Given the description of an element on the screen output the (x, y) to click on. 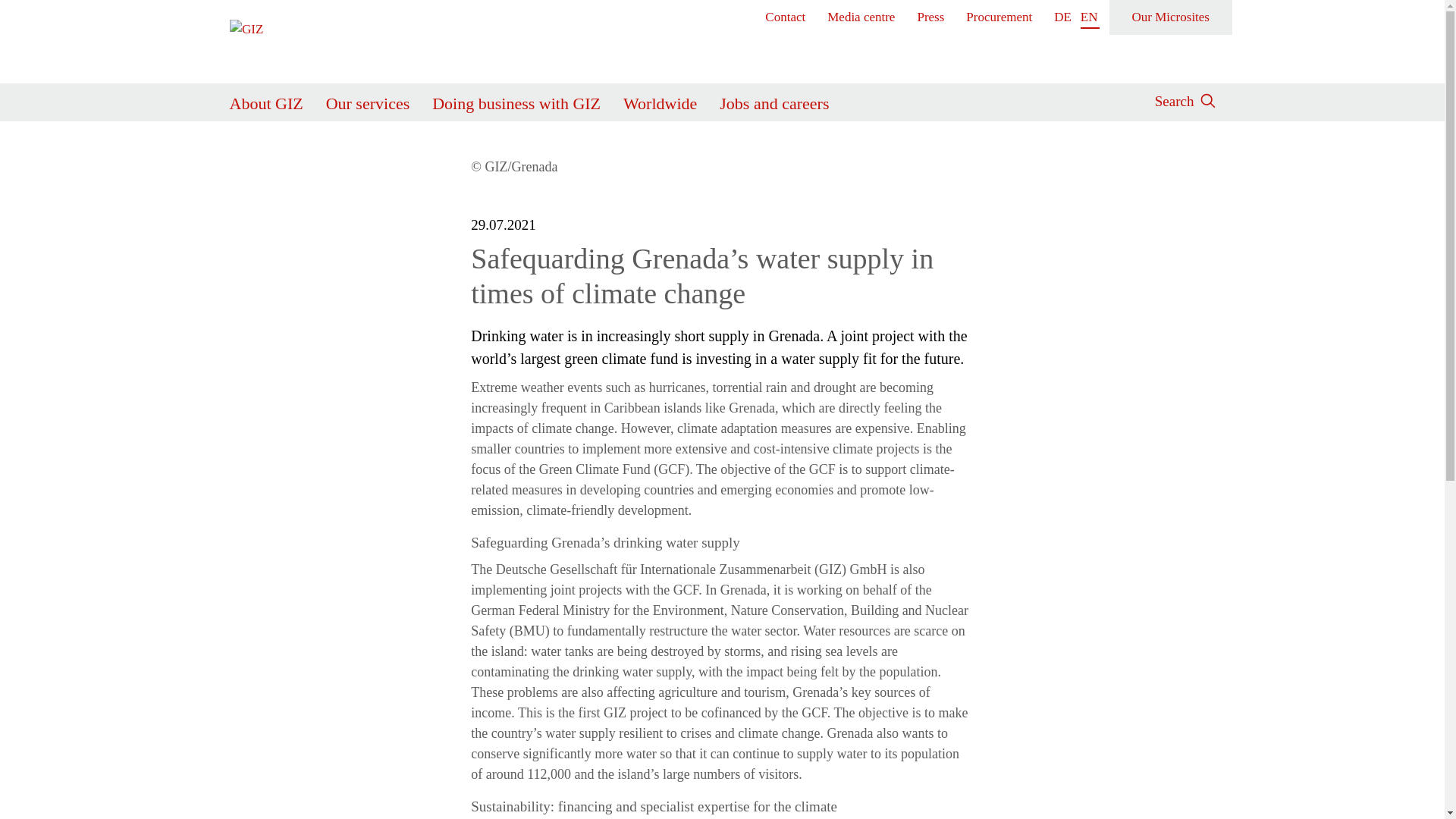
Contact (785, 17)
Doing business with GIZ (515, 99)
Worldwide (660, 99)
English (1089, 17)
Procurement (999, 17)
EN (1089, 17)
Search (1173, 98)
DE (1063, 17)
Jobs and careers (773, 99)
Search (986, 151)
